Given the description of an element on the screen output the (x, y) to click on. 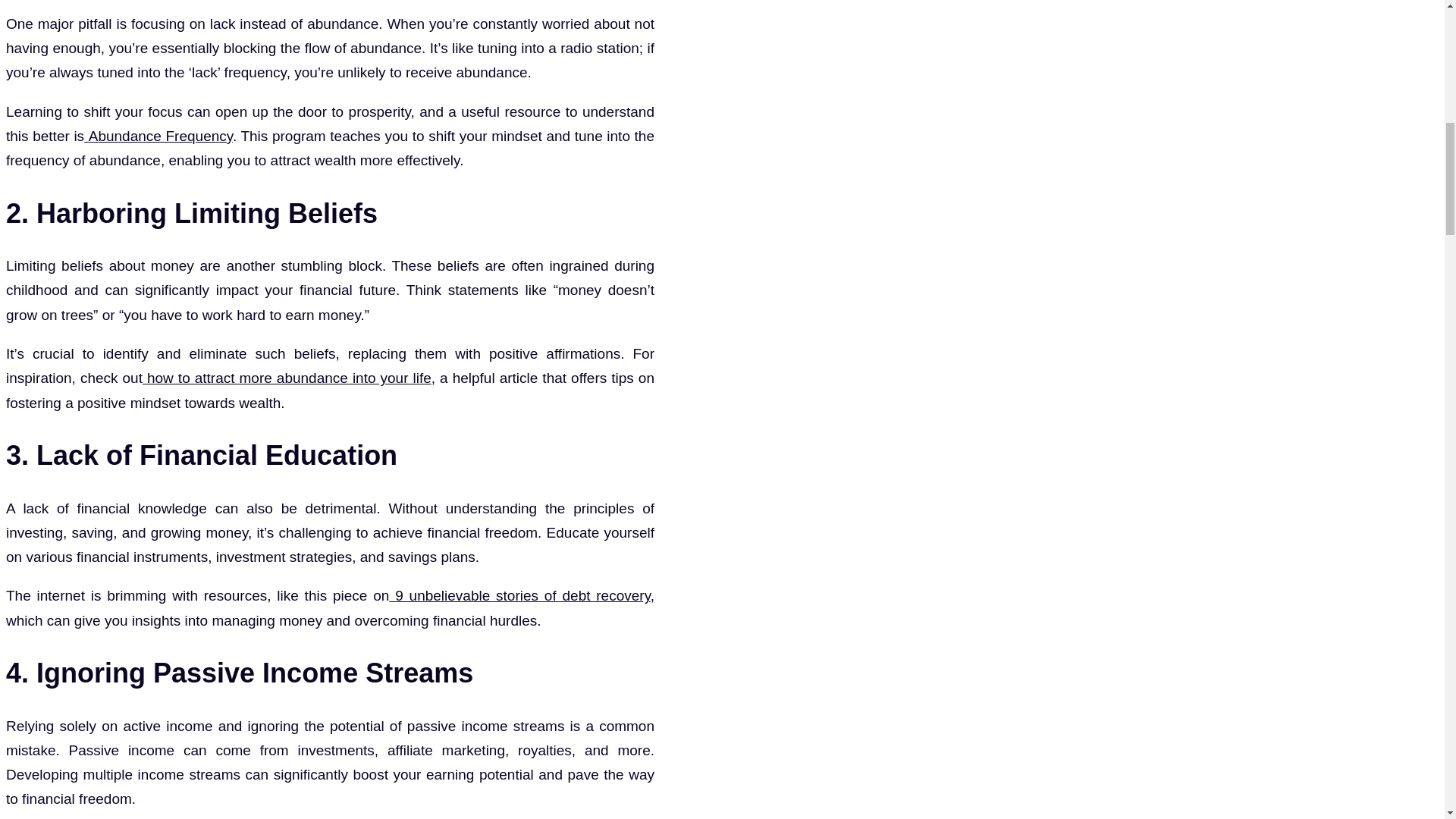
how to attract more abundance into your life (286, 377)
Abundance Frequency (158, 135)
Scroll back to top (1406, 720)
9 unbelievable stories of debt recovery (518, 595)
